Given the description of an element on the screen output the (x, y) to click on. 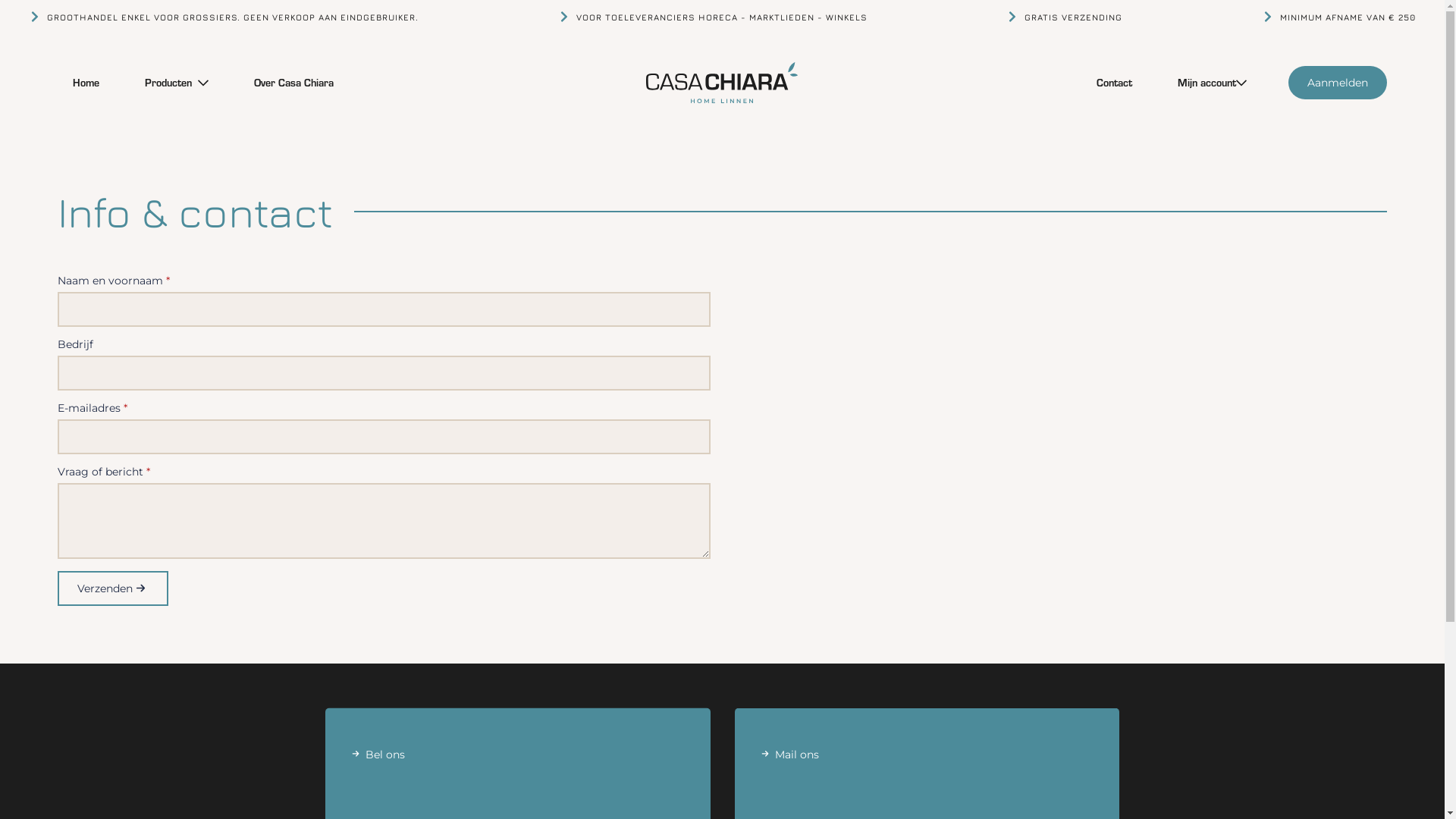
Mijn account Element type: text (1199, 82)
Producten   Element type: text (163, 82)
Aanmelden Element type: text (1337, 82)
Mail ons Element type: text (927, 769)
Home Element type: text (85, 82)
Over Casa Chiara Element type: text (293, 82)
Contact Element type: text (1114, 82)
Verzenden Element type: text (112, 588)
Bel ons Element type: text (517, 769)
